Given the description of an element on the screen output the (x, y) to click on. 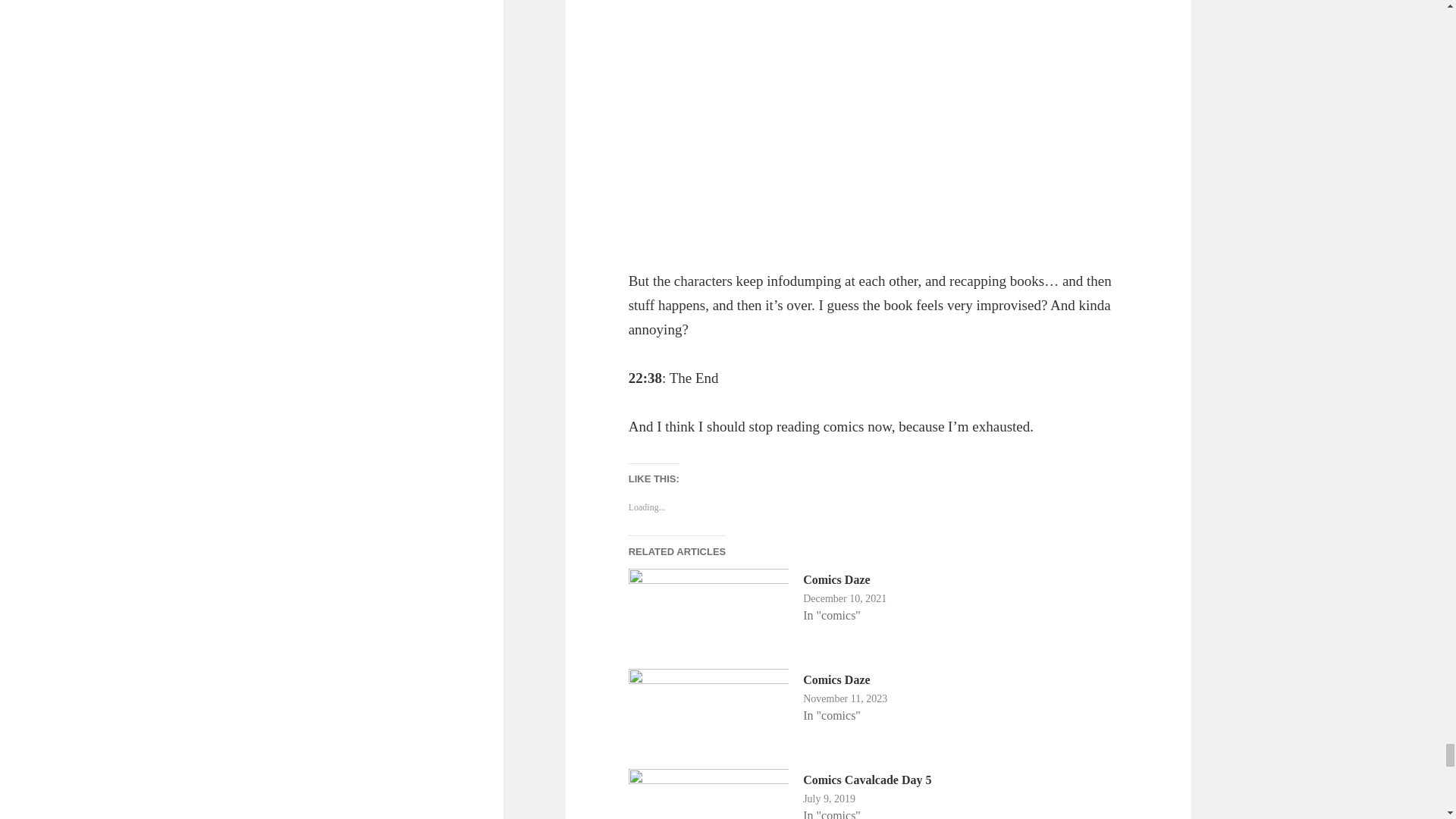
Comics Cavalcade Day 5 (867, 779)
Comics Daze (836, 579)
Comics Daze (836, 679)
